Given the description of an element on the screen output the (x, y) to click on. 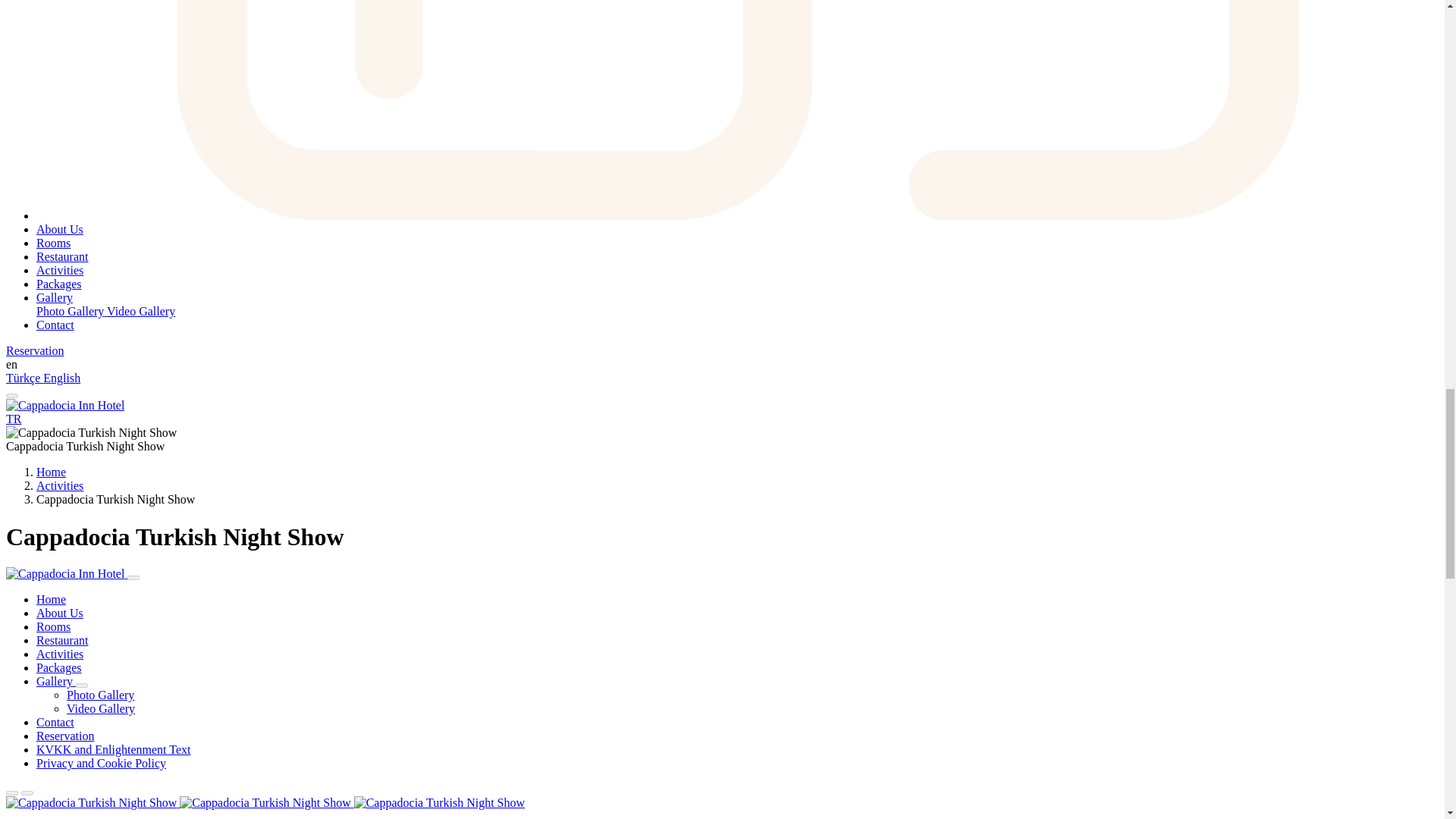
Photo Gallery (71, 310)
KVKK and Enlightenment Text (113, 748)
English (61, 377)
Packages (58, 667)
Contact (55, 324)
Rooms (52, 242)
Photo Gallery (99, 694)
Reservation (34, 350)
Activities (59, 269)
About Us (59, 612)
